Given the description of an element on the screen output the (x, y) to click on. 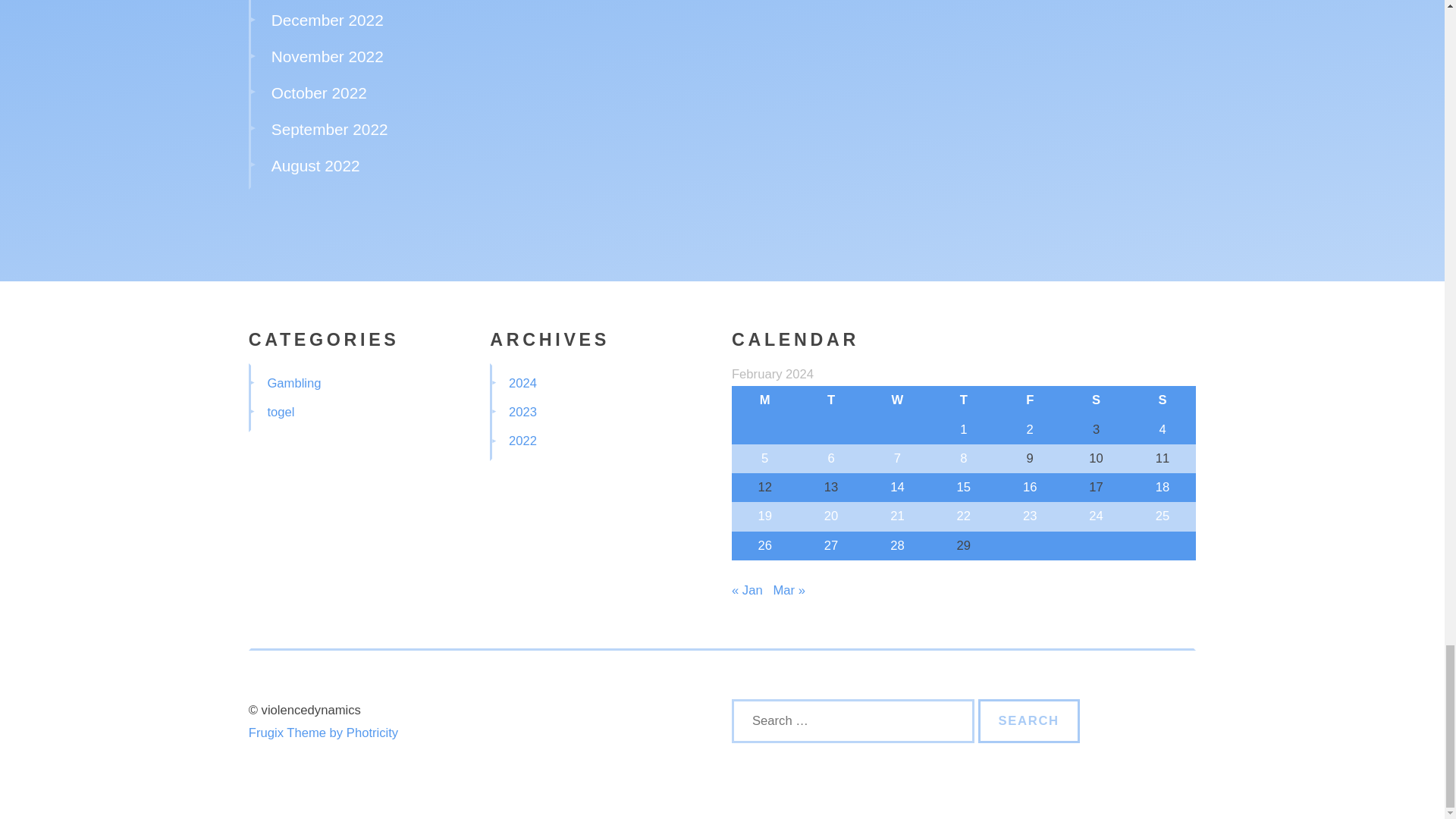
November 2022 (327, 56)
Thursday (962, 399)
Saturday (1095, 399)
August 2022 (314, 165)
December 2022 (327, 19)
October 2022 (318, 92)
Search (1029, 720)
September 2022 (329, 129)
Search (1029, 720)
Friday (1029, 399)
Wednesday (897, 399)
Tuesday (830, 399)
Monday (764, 399)
Sunday (1162, 399)
